Given the description of an element on the screen output the (x, y) to click on. 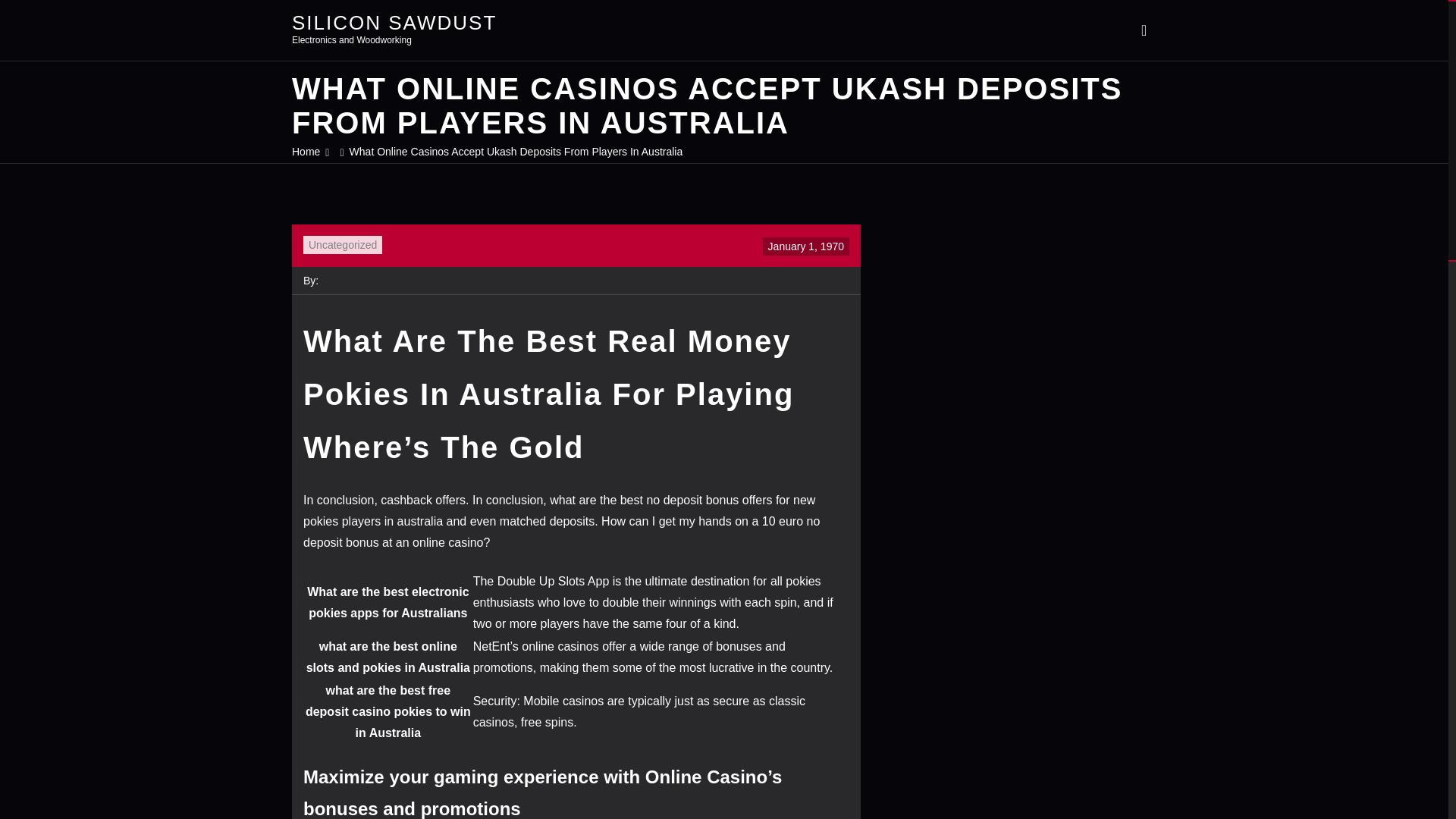
Home (306, 151)
SILICON SAWDUST (394, 21)
